Given the description of an element on the screen output the (x, y) to click on. 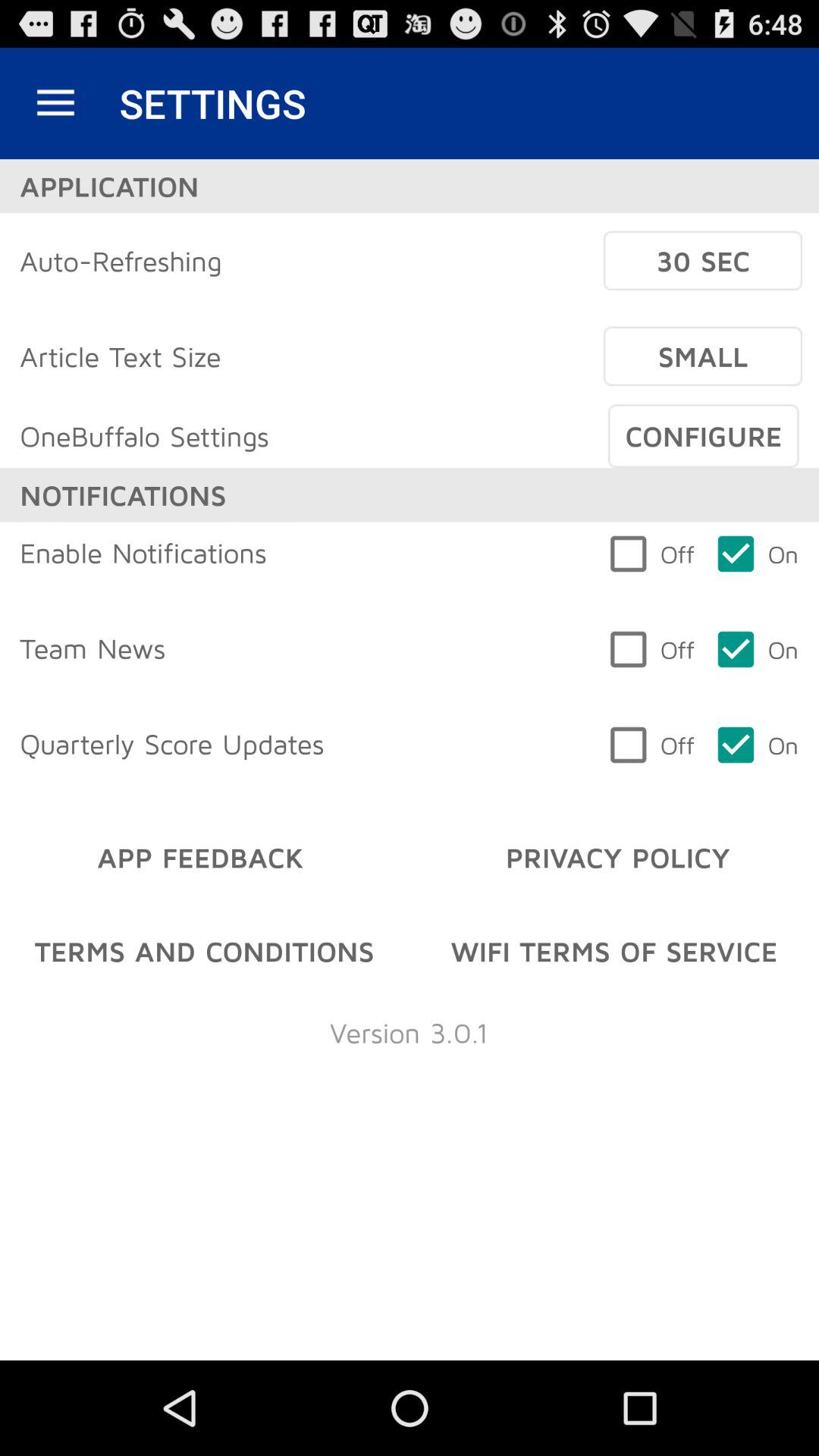
press item to the right of the onebuffalo settings (703, 436)
